Given the description of an element on the screen output the (x, y) to click on. 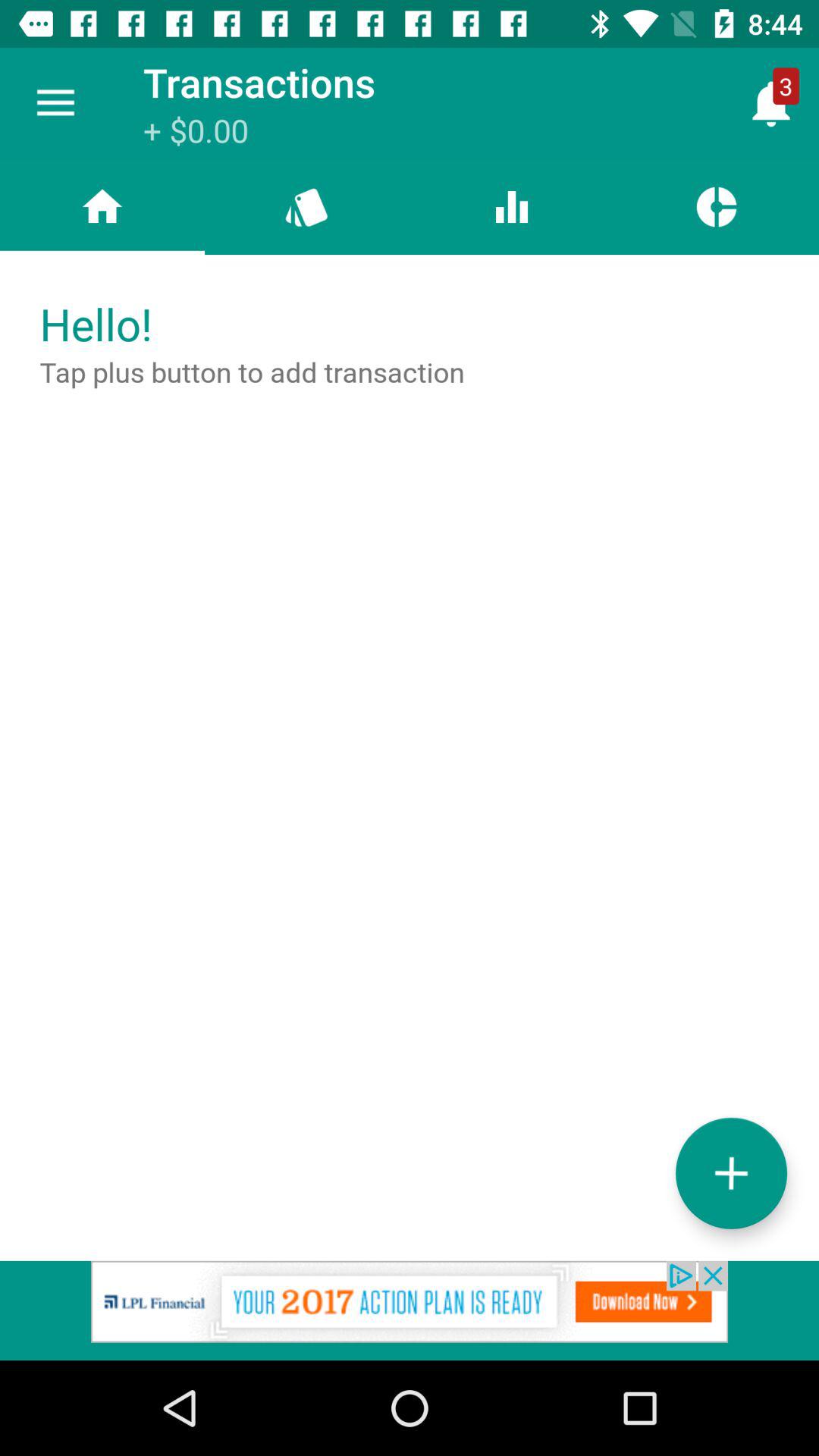
select the additional (731, 1173)
